Given the description of an element on the screen output the (x, y) to click on. 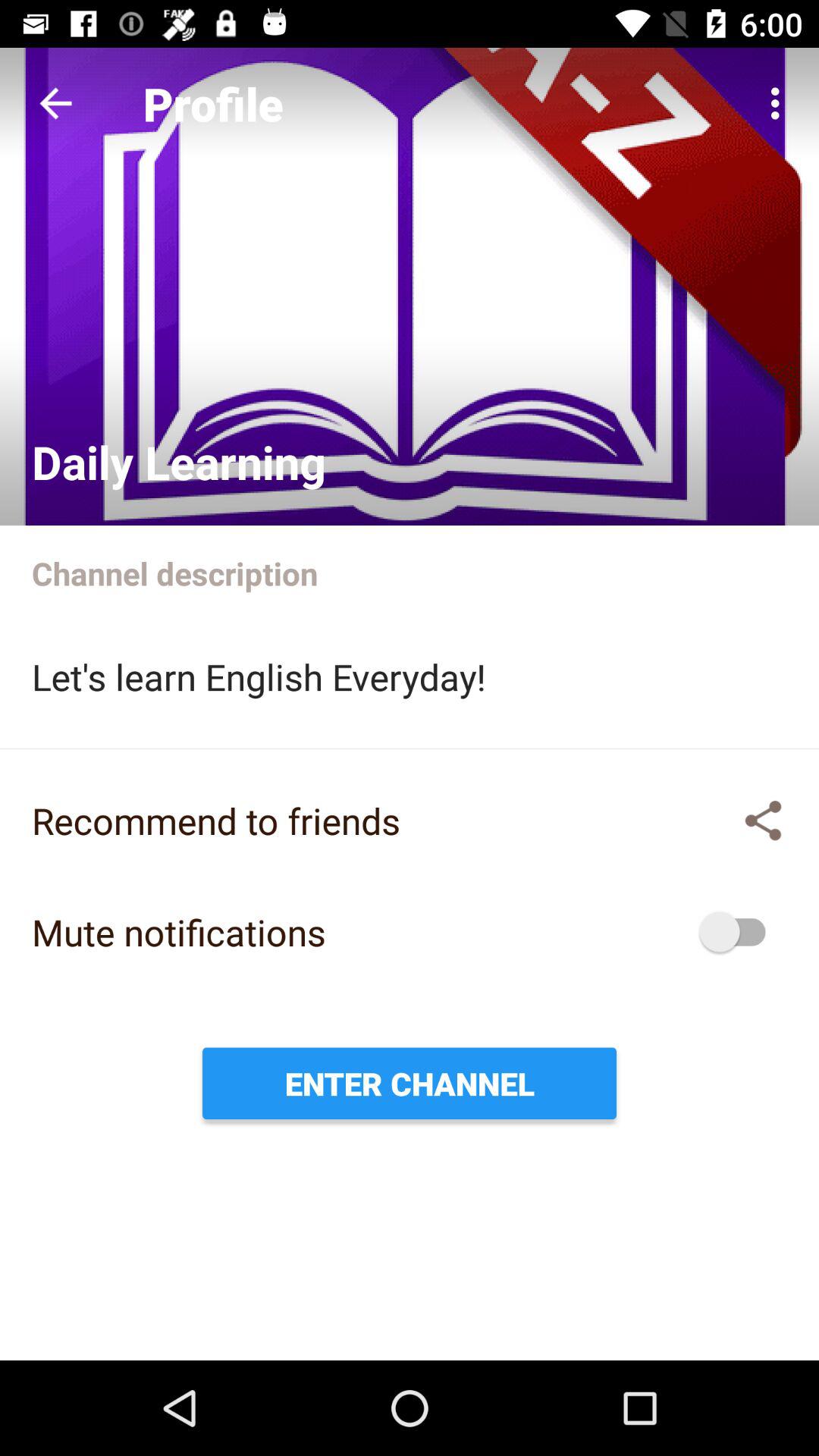
flip to enter channel (409, 1083)
